Given the description of an element on the screen output the (x, y) to click on. 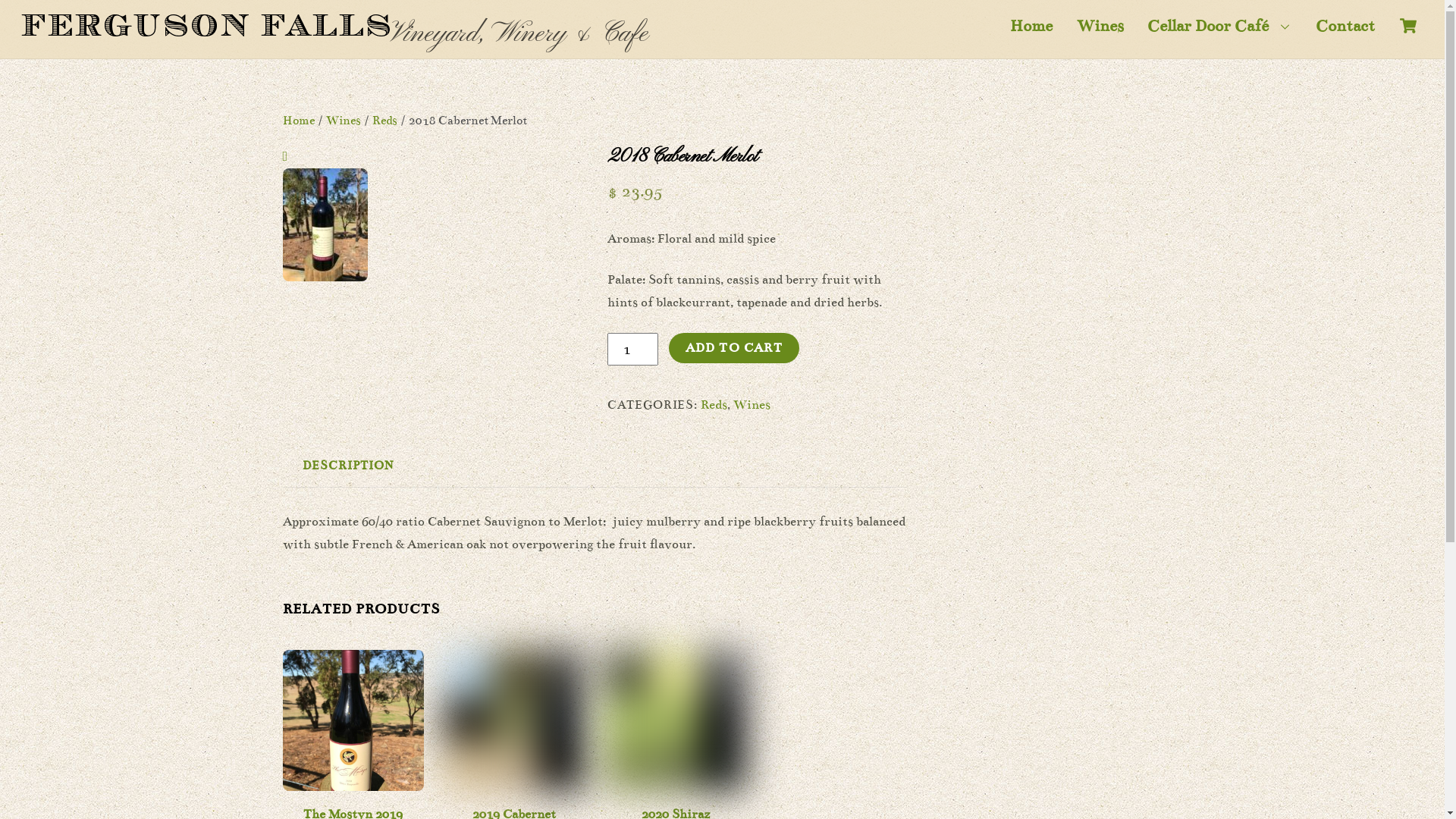
Wines Element type: text (343, 119)
Cart Element type: text (1408, 25)
Home Element type: text (1031, 25)
Ferguson-falls Element type: hover (205, 25)
Home Element type: text (297, 119)
Wines Element type: text (751, 404)
DESCRIPTION Element type: text (347, 465)
Reds Element type: text (713, 404)
ADD TO CART Element type: text (733, 347)
Contact Element type: text (1345, 25)
Reds Element type: text (383, 119)
AD1689A4-82D8-4266-8600-69107700C1EB Element type: hover (674, 719)
Ferguson Falls Wines & Cafe Element type: hover (205, 39)
Wines Element type: text (1100, 25)
